Given the description of an element on the screen output the (x, y) to click on. 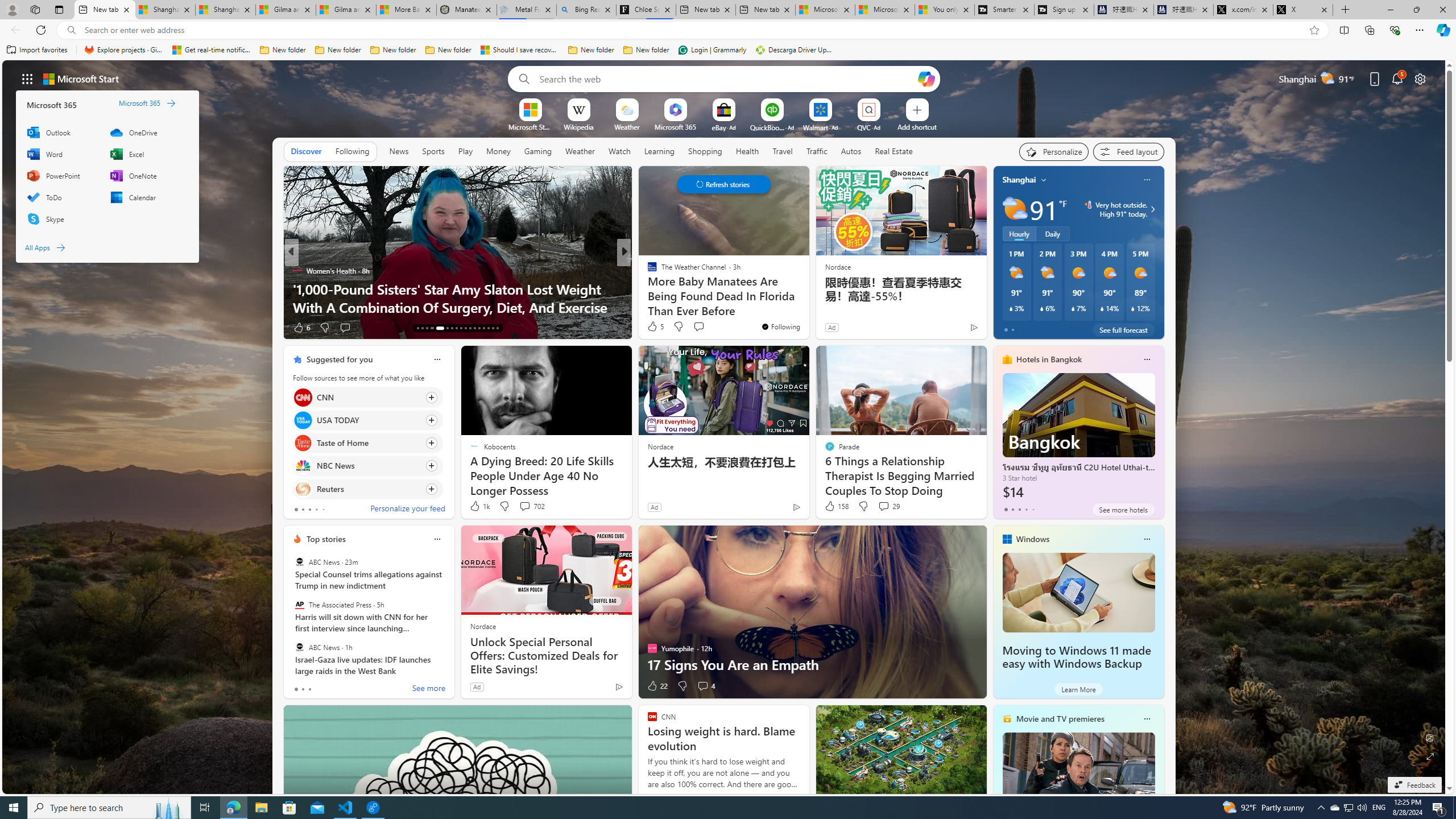
661 Like (654, 327)
Enter your search term (726, 78)
OneDrive (145, 132)
AutomationID: tab-25 (478, 328)
Word (61, 153)
AutomationID: tab-14 (422, 328)
Nordace.com (663, 288)
